Given the description of an element on the screen output the (x, y) to click on. 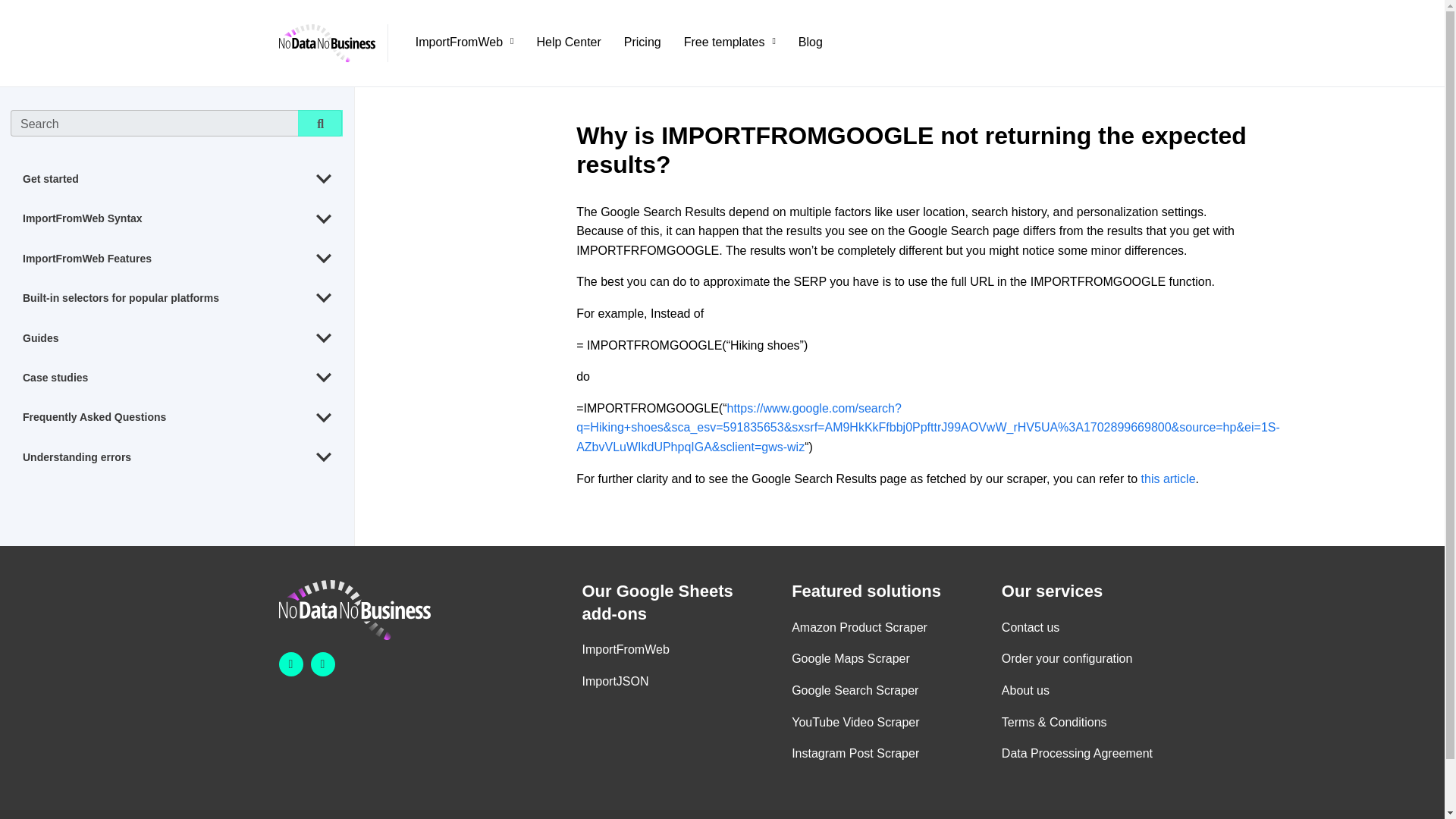
ImportFromWeb (463, 42)
Get started (176, 178)
ImportFromWeb Syntax (176, 218)
Built-in selectors for popular platforms (176, 297)
Free templates (730, 42)
NoDataNoBusiness (333, 43)
Pricing (642, 41)
ImportFromWeb Features (176, 258)
Search (320, 122)
Help Center (567, 41)
